Given the description of an element on the screen output the (x, y) to click on. 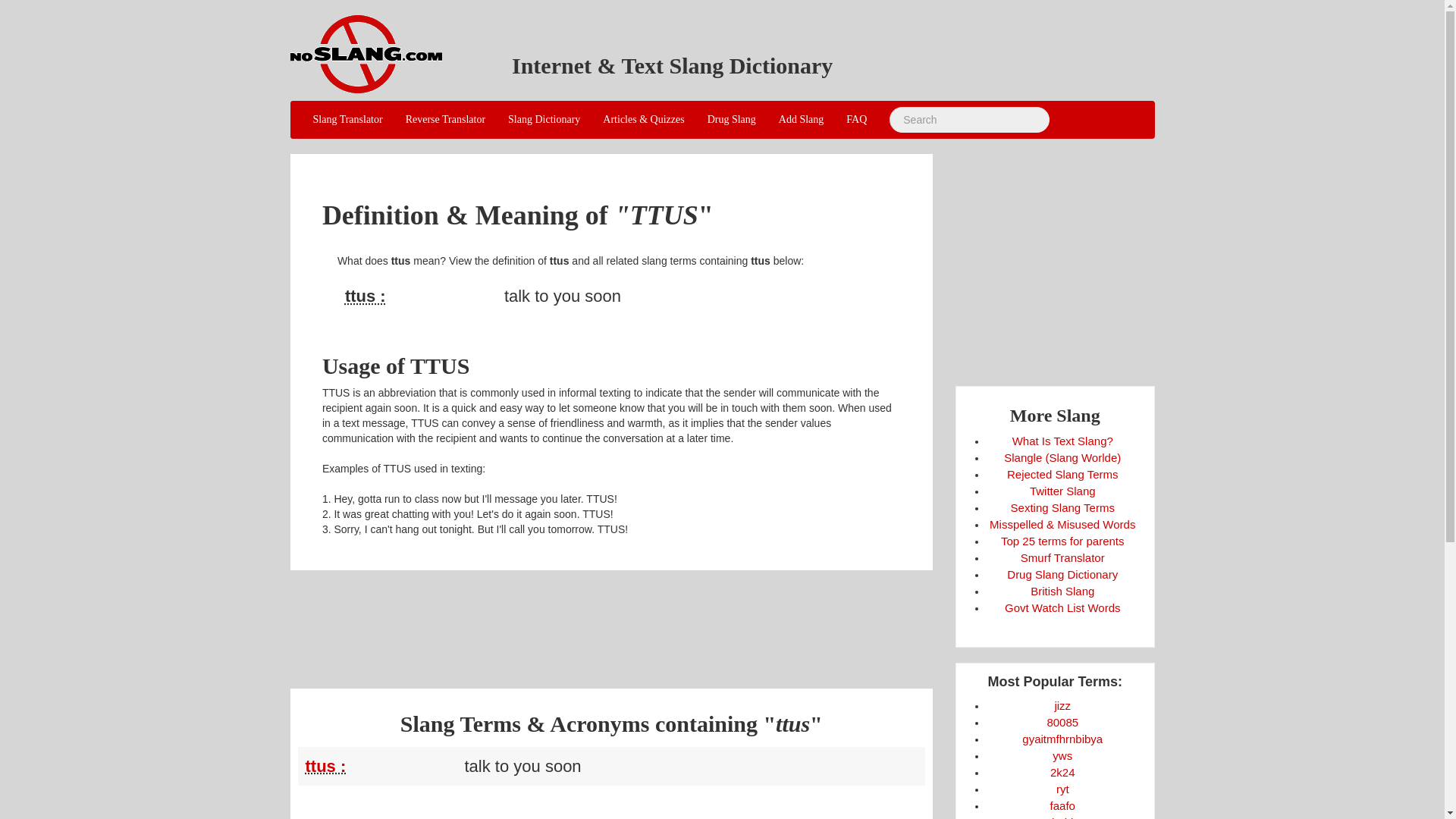
Sexting Slang Terms (1062, 507)
Reverse Translator (445, 119)
Top 25 terms for parents (1062, 540)
baby (1062, 817)
British Slang (1062, 590)
Govt Watch List Words (1062, 607)
FAQ (855, 119)
talk to you soon (420, 295)
Drug Slang Dictionary (1062, 574)
right (1062, 788)
faafo (1062, 805)
What Is Text Slang? (1062, 440)
Drug Slang (731, 119)
fuck around and find out (1062, 805)
